Given the description of an element on the screen output the (x, y) to click on. 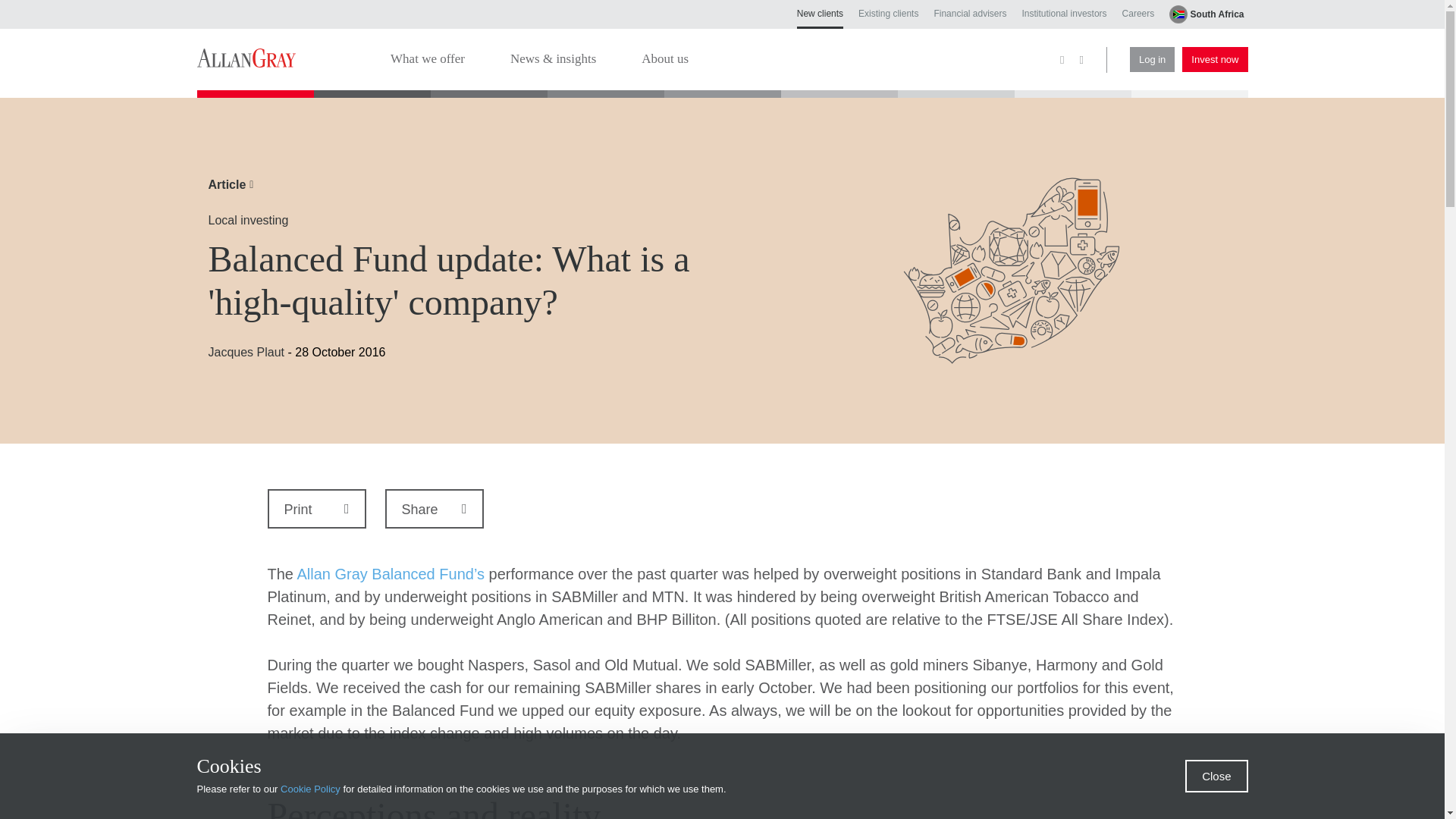
Financial advisers (969, 13)
Existing clients (888, 13)
Institutional investors (1064, 13)
Careers (1138, 13)
New clients (819, 18)
